Given the description of an element on the screen output the (x, y) to click on. 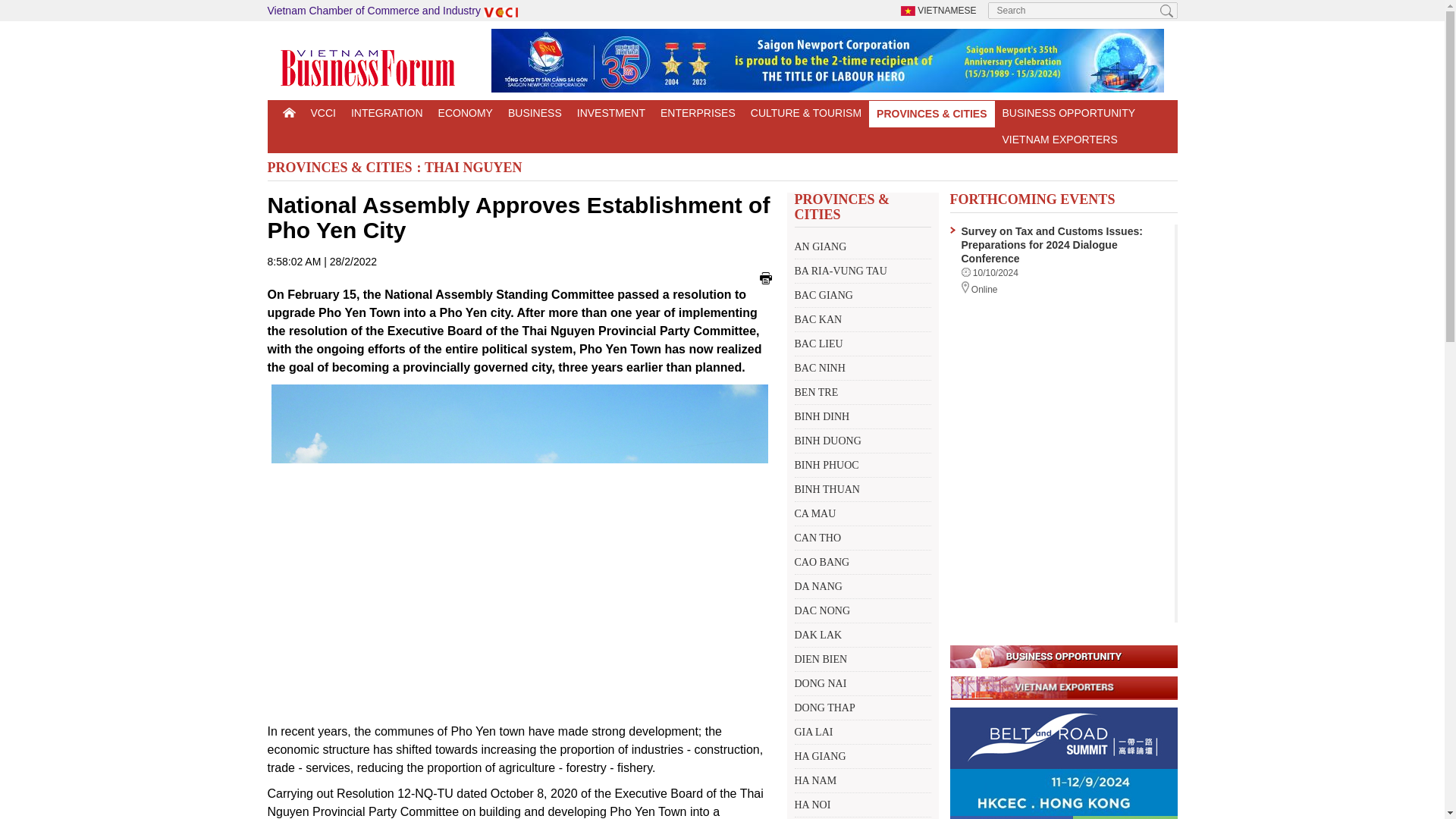
BUSINESS (534, 112)
VIETNAM EXPORTERS (1056, 139)
INVESTMENT (610, 112)
ECONOMY (465, 112)
INTEGRATION (386, 112)
ENTERPRISES (697, 112)
VCCI (322, 112)
VIETNAMESE (938, 9)
BUSINESS OPPORTUNITY (1068, 112)
Vietnam Chamber of Commerce and Industry (393, 10)
